Given the description of an element on the screen output the (x, y) to click on. 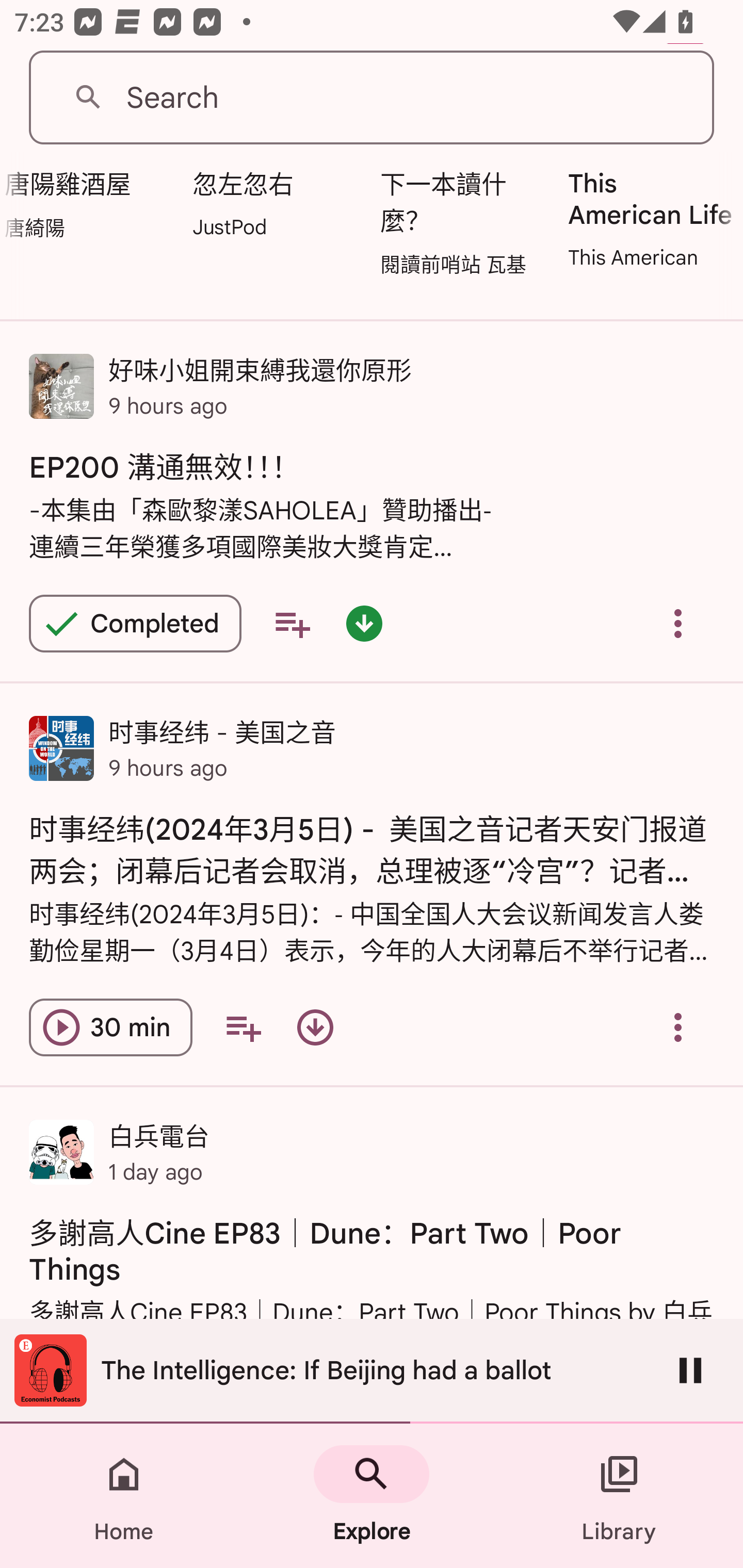
Search (371, 97)
唐陽雞酒屋 唐綺陽 (90, 203)
忽左忽右 JustPod (275, 202)
下一本讀什麼？ 閱讀前哨站 瓦基 (463, 221)
This American Life (650, 217)
Play episode EP200 溝通無效！！！ Completed (134, 623)
Add to your queue (291, 623)
Episode downloaded - double tap for options (364, 623)
Overflow menu (677, 623)
Add to your queue (242, 1027)
Download episode (315, 1027)
Overflow menu (677, 1027)
Pause (690, 1370)
Home (123, 1495)
Library (619, 1495)
